Given the description of an element on the screen output the (x, y) to click on. 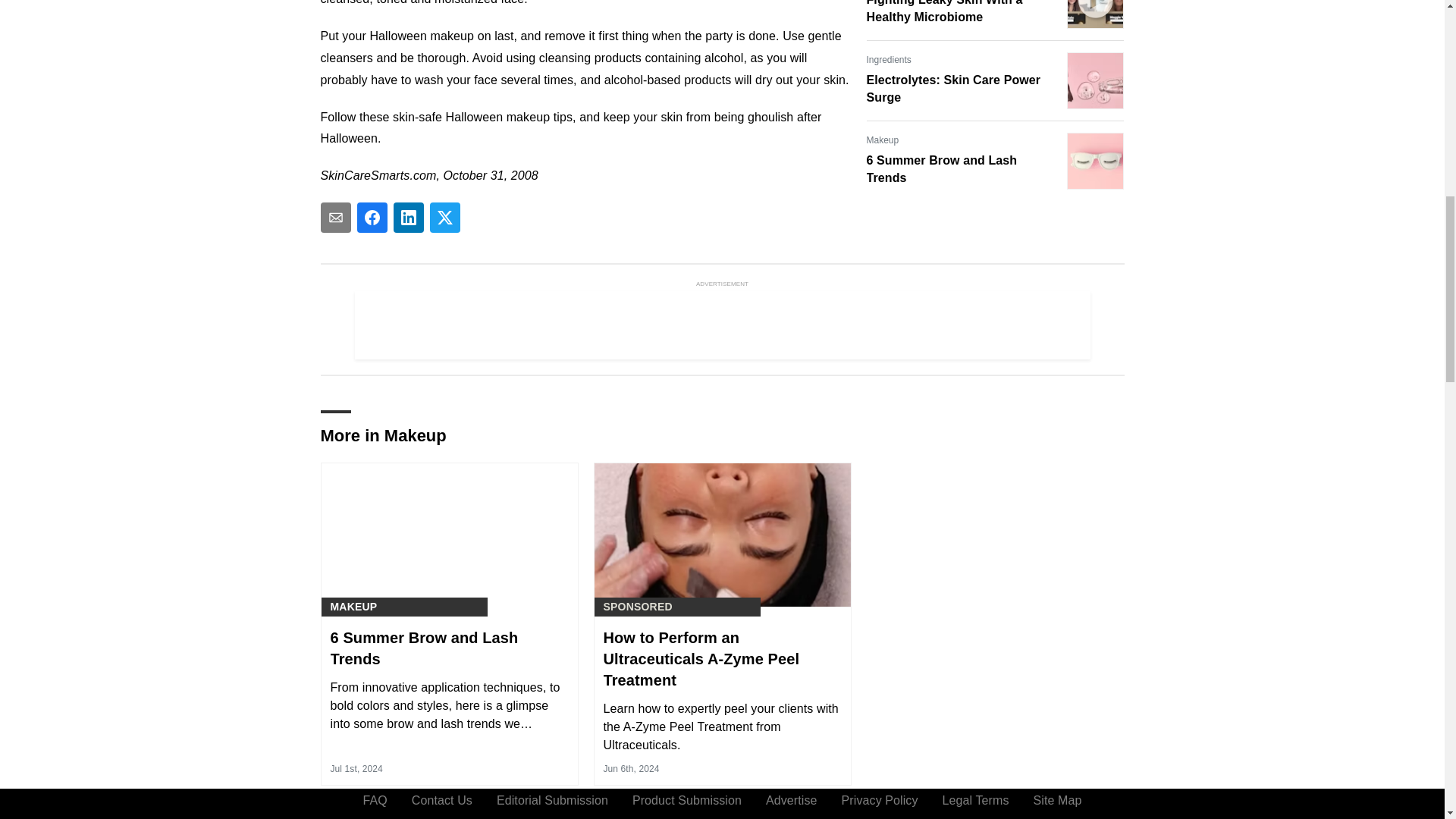
Share To twitter (444, 217)
Share To email (335, 217)
Share To facebook (371, 217)
Share To linkedin (408, 217)
